Given the description of an element on the screen output the (x, y) to click on. 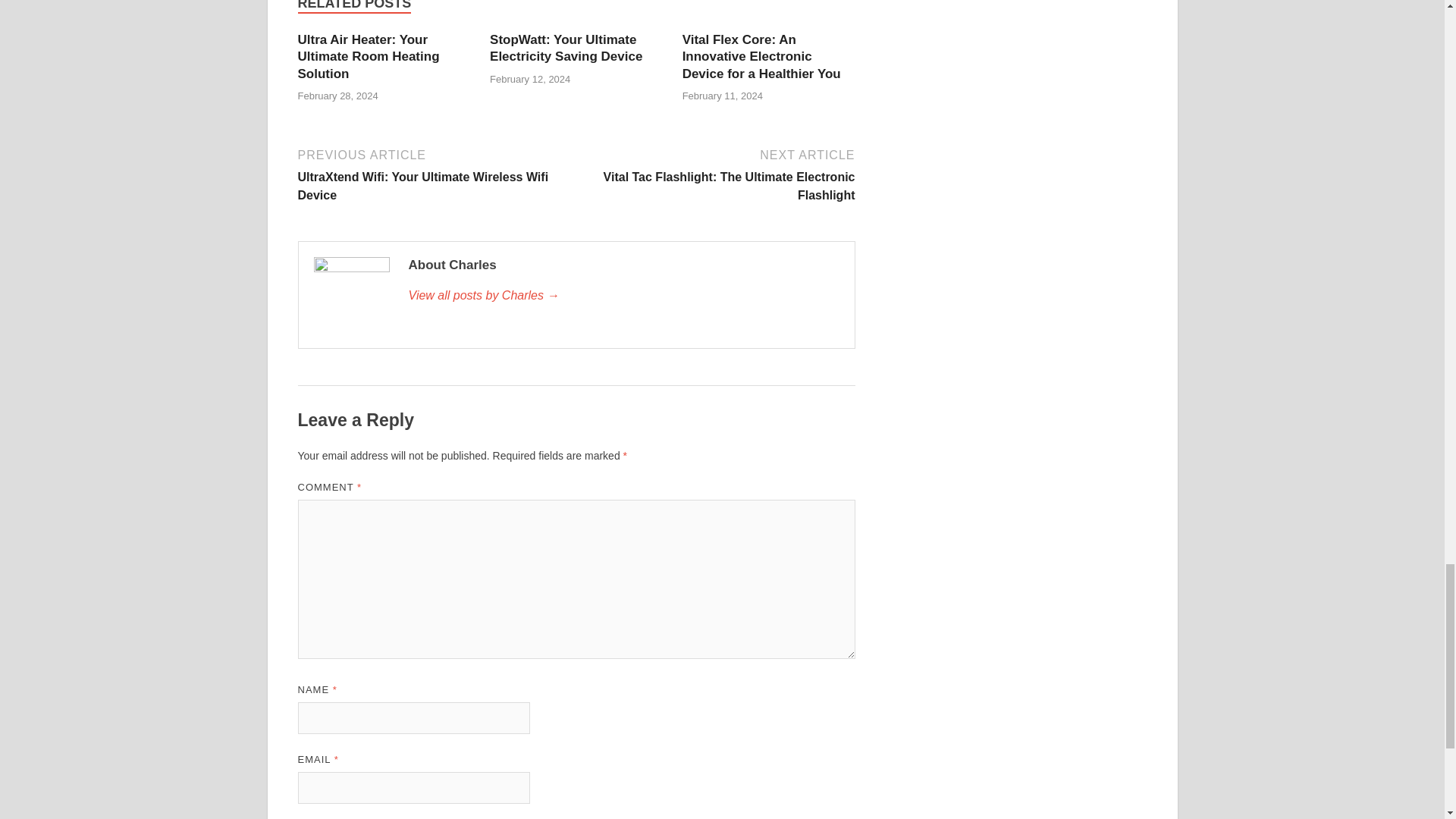
Charles (622, 295)
StopWatt: Your Ultimate Electricity Saving Device (565, 47)
Ultra Air Heater: Your Ultimate Room Heating Solution (368, 56)
Ultra Air Heater: Your Ultimate Room Heating Solution (368, 56)
StopWatt: Your Ultimate Electricity Saving Device (565, 47)
